Given the description of an element on the screen output the (x, y) to click on. 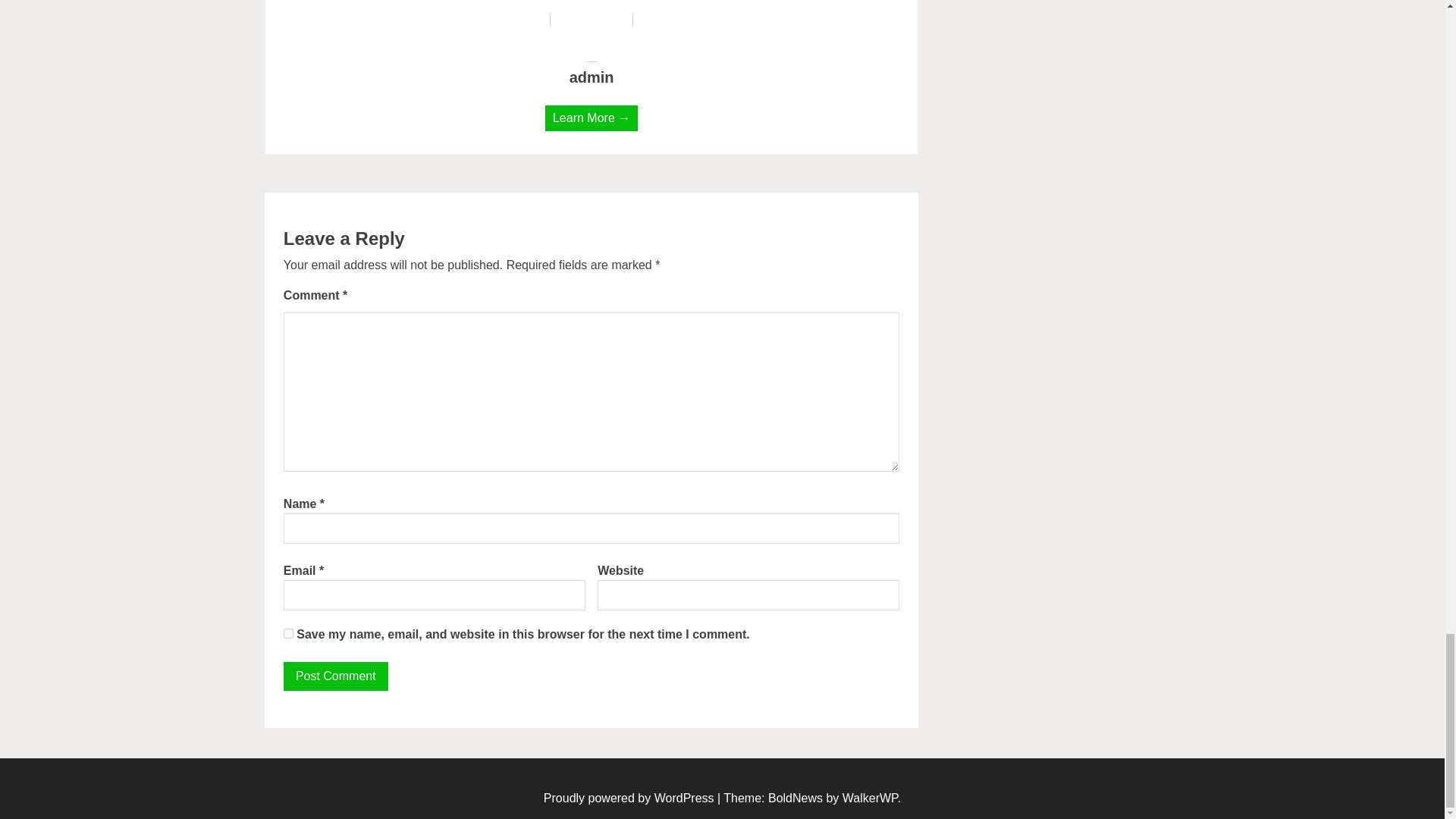
Post Comment (335, 676)
Post Comment (335, 676)
yes (288, 633)
